Given the description of an element on the screen output the (x, y) to click on. 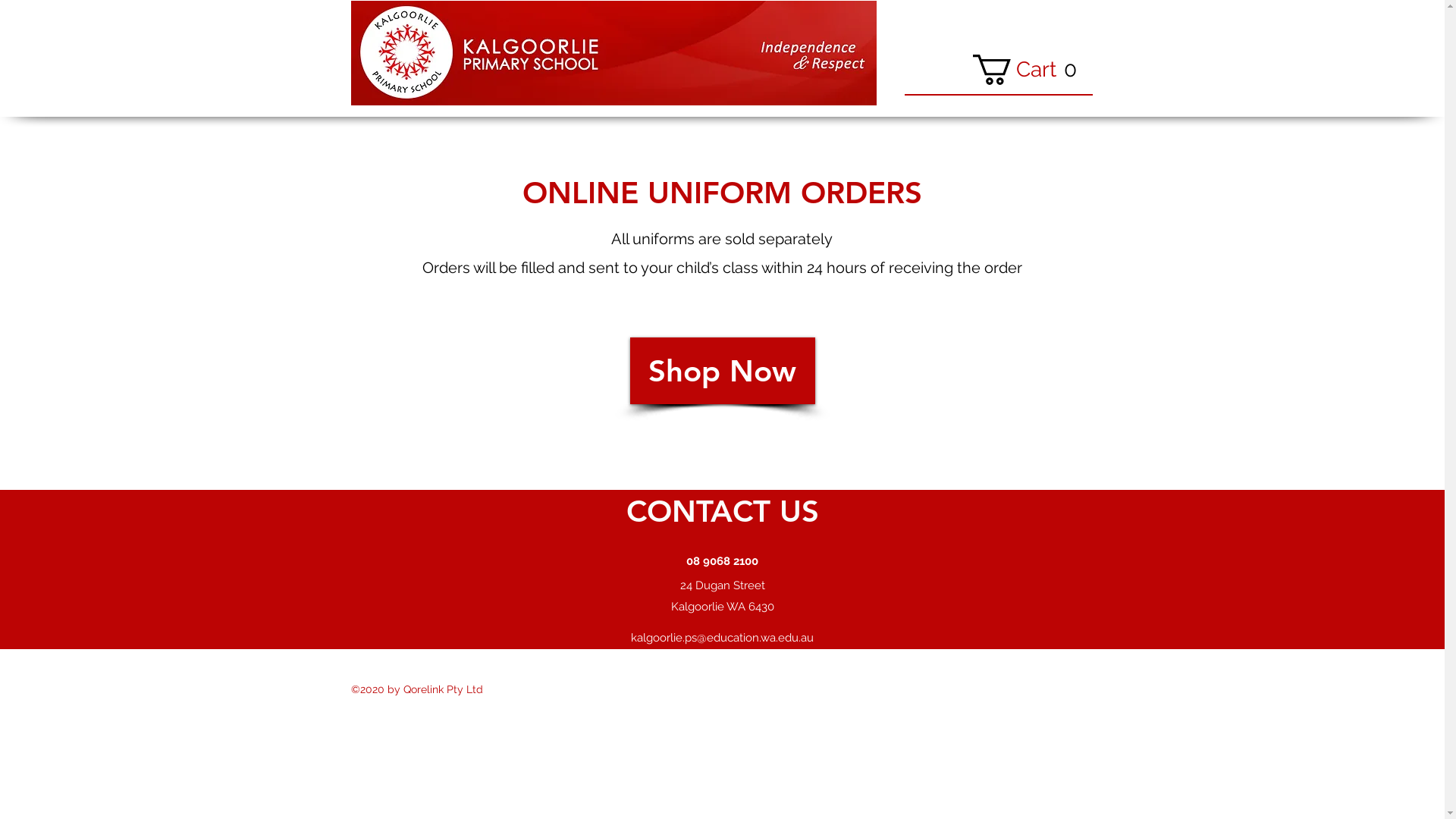
kalgoorlie.ps@education.wa.edu.au Element type: text (721, 637)
Shop Now Element type: text (721, 370)
Cart
0 Element type: text (1029, 69)
